Given the description of an element on the screen output the (x, y) to click on. 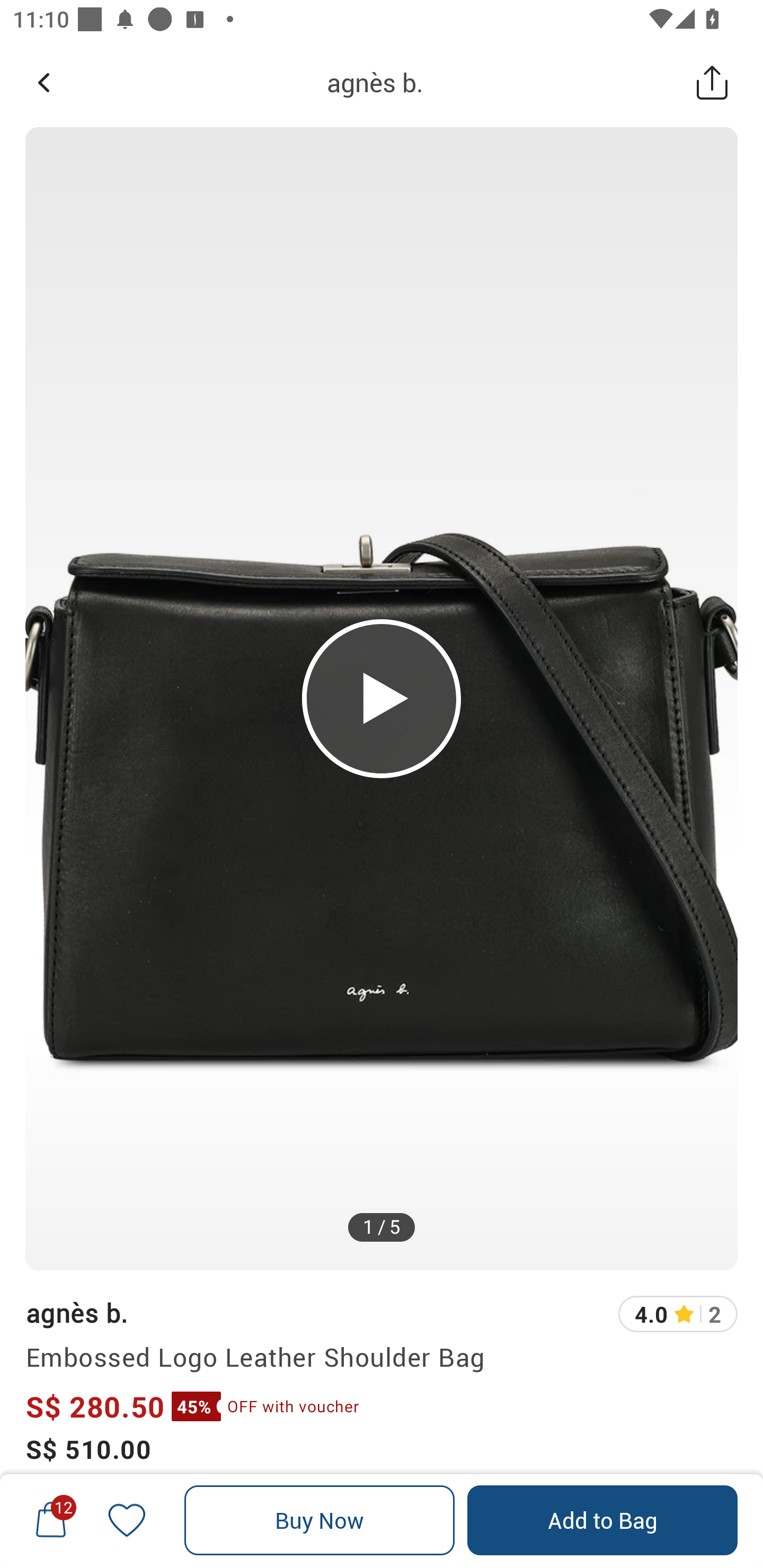
agnès b. (375, 82)
Share this Product (711, 82)
agnès b. (76, 1312)
4.0 2 (677, 1313)
Buy Now (319, 1519)
Add to Bag (601, 1519)
12 (50, 1520)
